Given the description of an element on the screen output the (x, y) to click on. 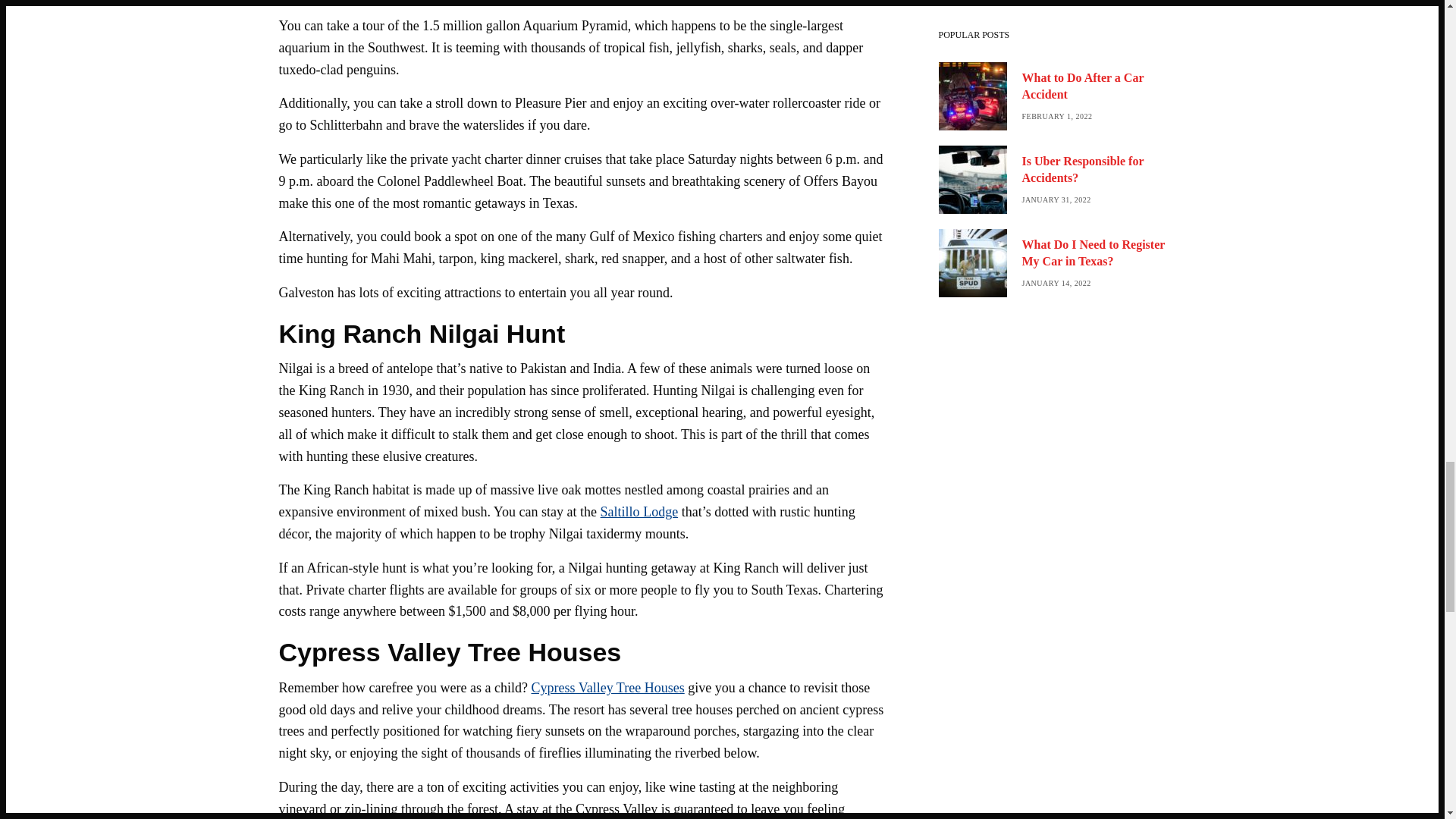
Saltillo Lodge (638, 511)
Cypress Valley Tree Houses (607, 687)
